Given the description of an element on the screen output the (x, y) to click on. 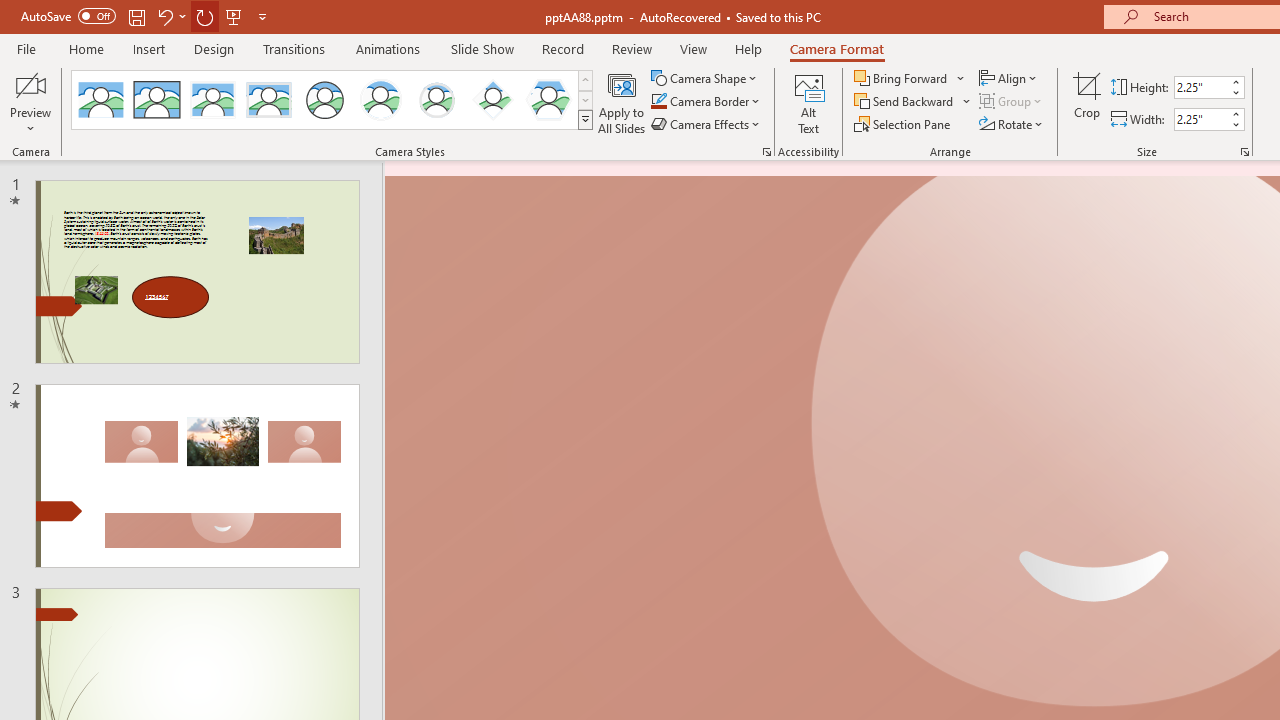
Center Shadow Diamond (492, 100)
Camera Effects (706, 124)
AutomationID: CameoStylesGallery (333, 99)
Camera Shape (705, 78)
Send Backward (905, 101)
No Style (100, 100)
Center Shadow Rectangle (212, 100)
Bring Forward (902, 78)
